Given the description of an element on the screen output the (x, y) to click on. 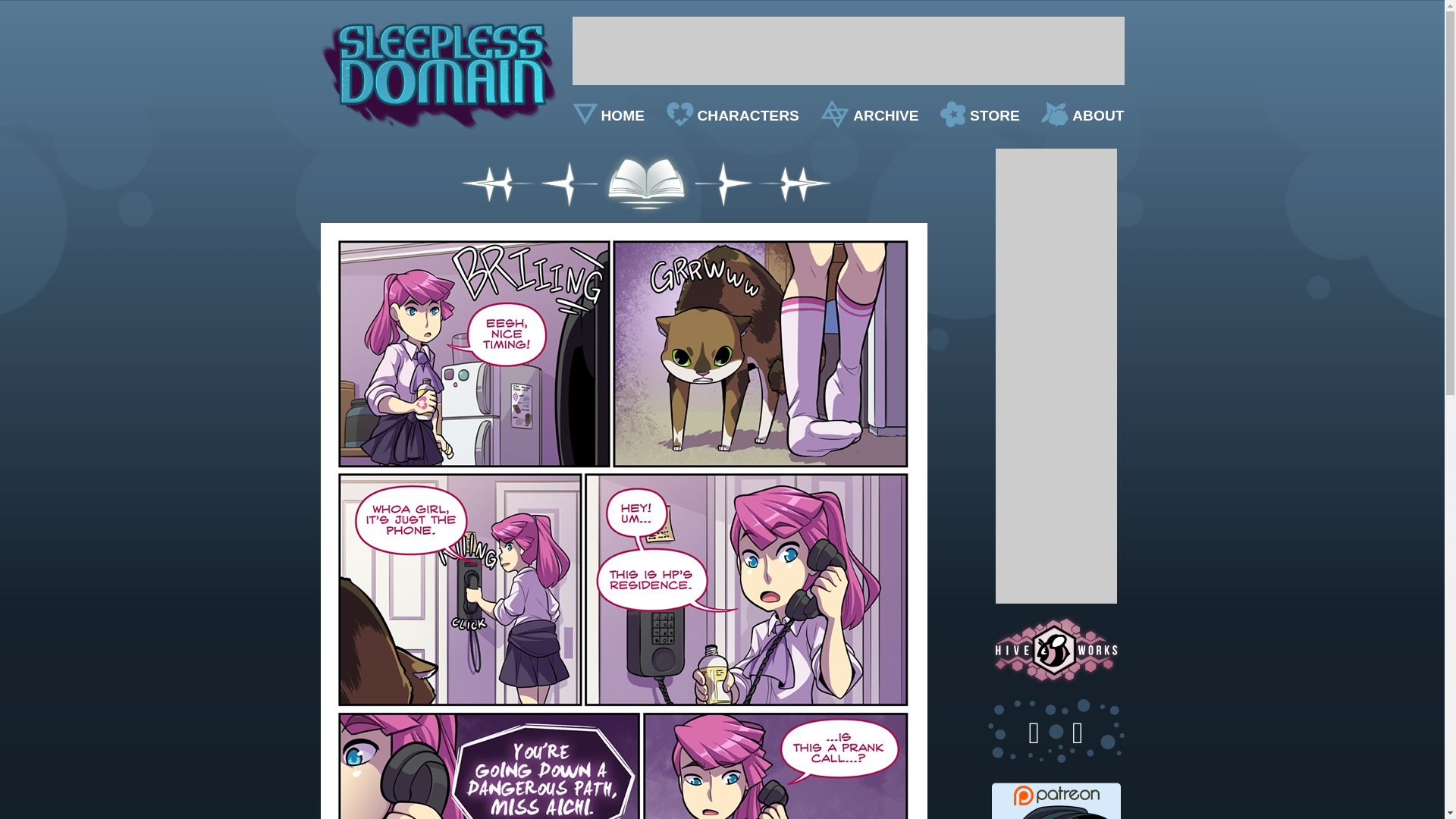
ABOUT (1082, 115)
ARCHIVE (869, 115)
HOME (608, 115)
CHARACTERS (731, 115)
STORE (980, 115)
